Given the description of an element on the screen output the (x, y) to click on. 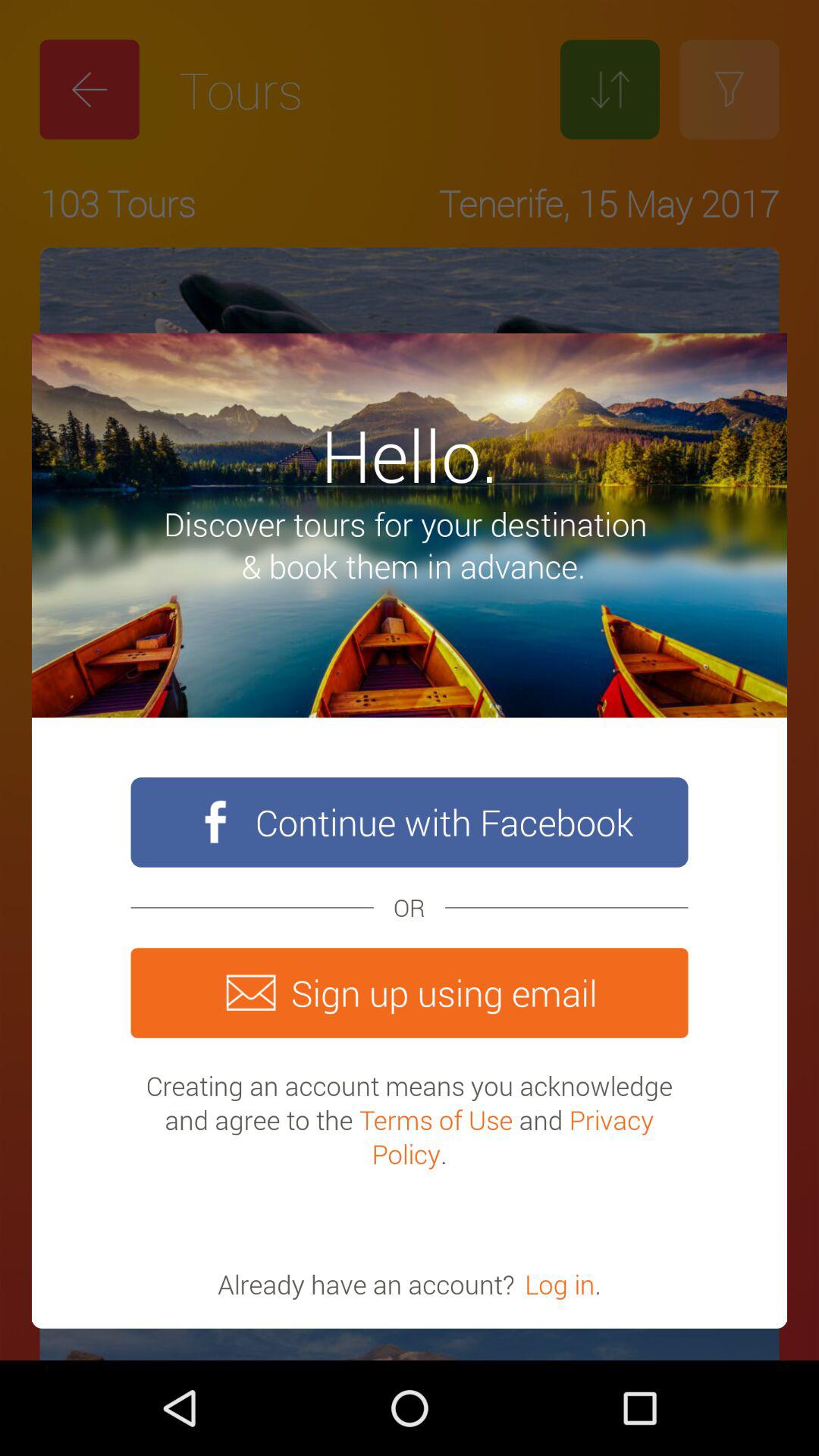
click the log in (559, 1283)
